Given the description of an element on the screen output the (x, y) to click on. 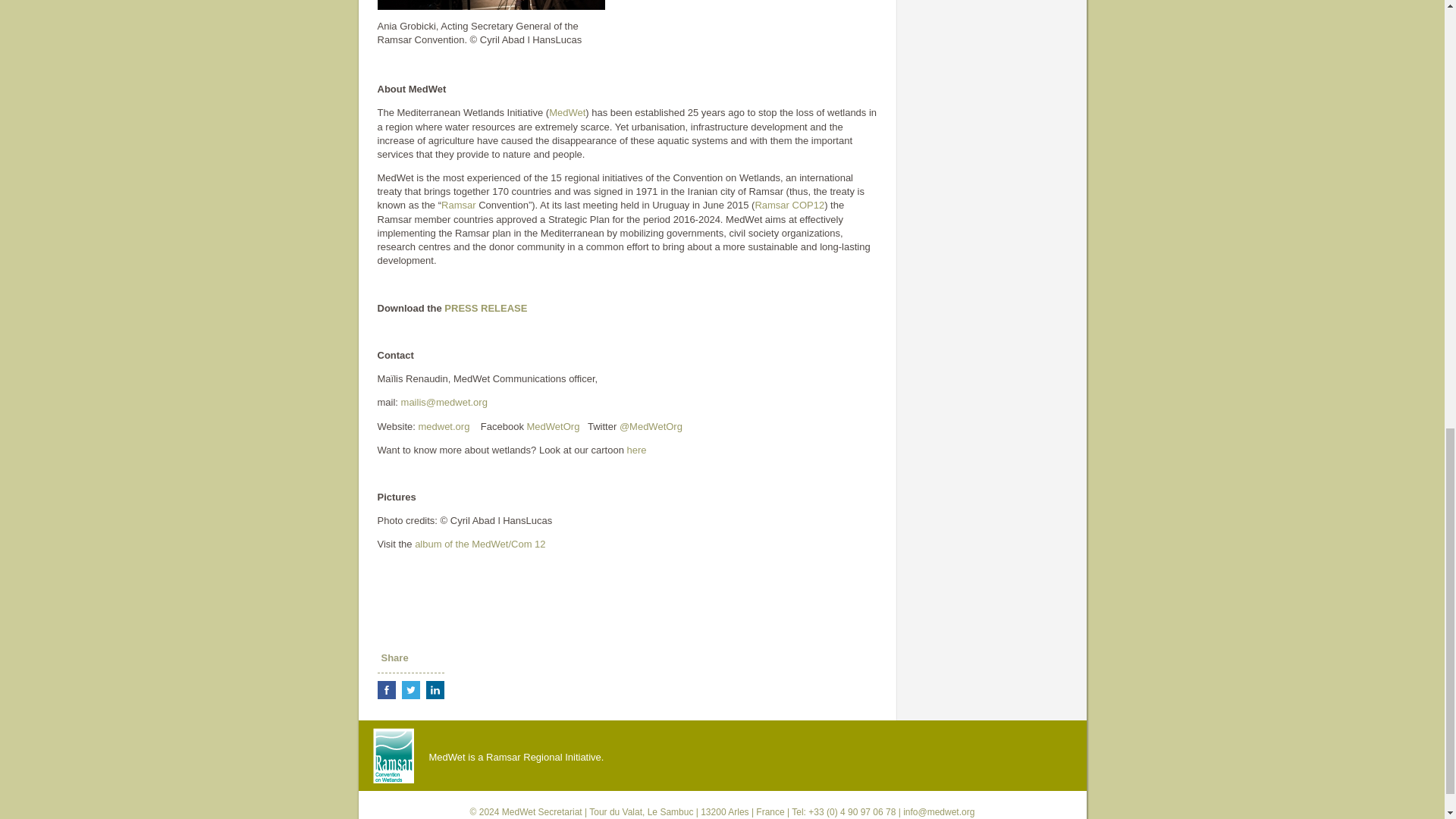
Share on Facebook (386, 689)
Share this post on Facebook (386, 689)
MedWet (566, 112)
MedWetOrg (553, 426)
Share on LinkedIn (435, 689)
Share this post on Twitter (410, 689)
Share on Twitter (410, 689)
Ramsar (458, 204)
medwet.org (442, 426)
Share this post on LinkedIn (435, 689)
